Given the description of an element on the screen output the (x, y) to click on. 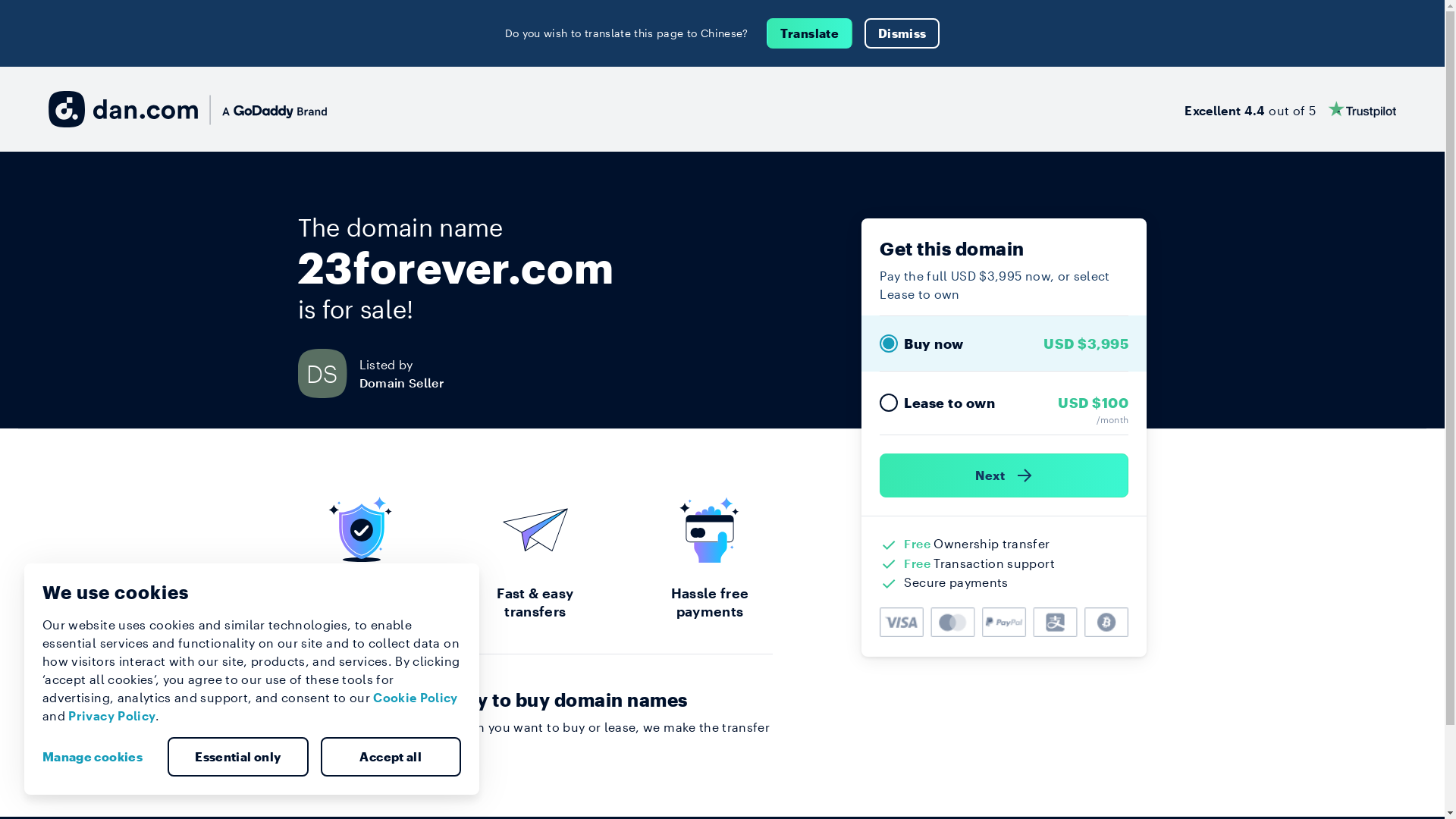
Dismiss Element type: text (901, 33)
Privacy Policy Element type: text (111, 715)
Next
) Element type: text (1003, 475)
Cookie Policy Element type: text (415, 697)
Accept all Element type: text (390, 756)
Excellent 4.4 out of 5 Element type: text (1290, 109)
Manage cookies Element type: text (98, 756)
Essential only Element type: text (237, 756)
Translate Element type: text (809, 33)
